Given the description of an element on the screen output the (x, y) to click on. 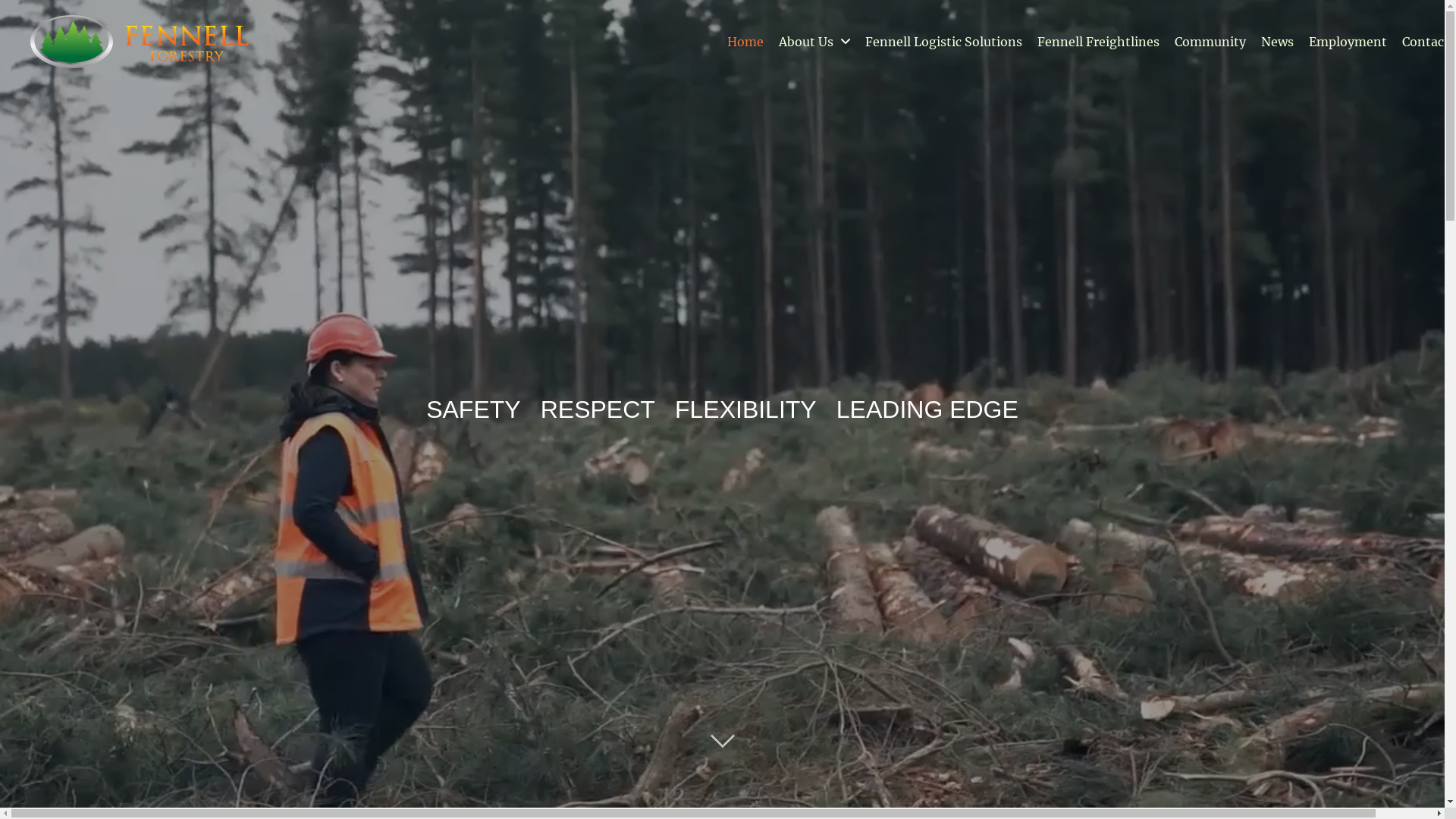
Home Element type: text (745, 41)
Community Element type: text (1210, 41)
Fennell Freightlines Element type: text (1098, 41)
Fennell Logistic Solutions Element type: text (943, 41)
Employment Element type: text (1347, 41)
News Element type: text (1277, 41)
About Us Element type: text (814, 41)
